Given the description of an element on the screen output the (x, y) to click on. 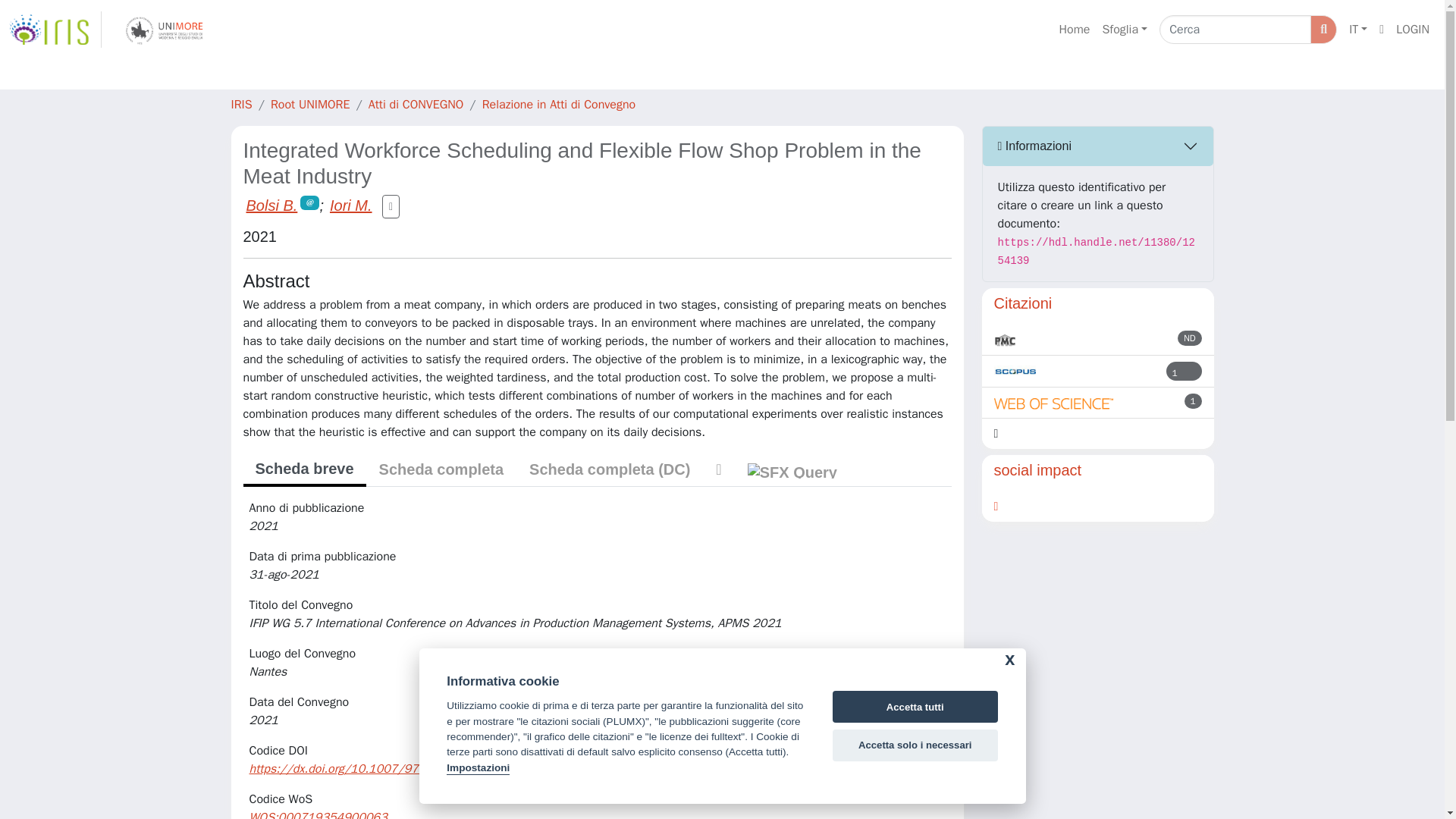
Accetta tutti (914, 706)
Relazione in Atti di Convegno (558, 104)
LOGIN (1412, 29)
Corresponding author (309, 202)
Root UNIMORE (310, 104)
IT (1357, 29)
Impostazioni (477, 768)
Iori M. (351, 205)
Sfoglia (1124, 29)
IRIS (240, 104)
Home (1074, 29)
Scheda breve (304, 469)
Scheda completa (441, 469)
Accetta solo i necessari (914, 745)
Bolsi B. (271, 205)
